Given the description of an element on the screen output the (x, y) to click on. 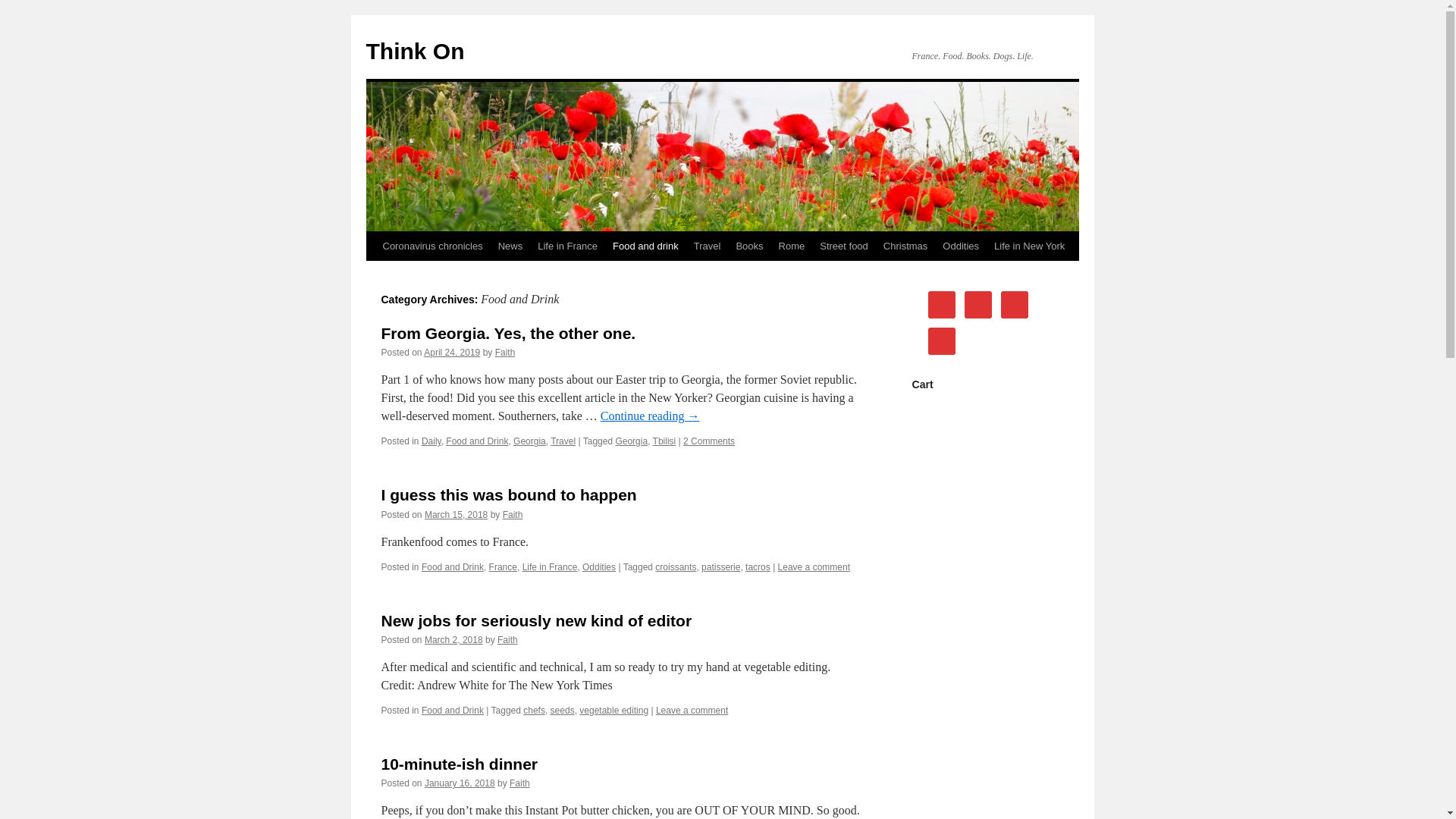
Coronavirus chronicles (431, 246)
Travel (562, 440)
Books (749, 246)
Food and drink (645, 246)
Oddities (598, 566)
From Georgia. Yes, the other one. (507, 333)
March 15, 2018 (456, 514)
Food and Drink (452, 710)
March 2, 2018 (454, 639)
News (510, 246)
